Given the description of an element on the screen output the (x, y) to click on. 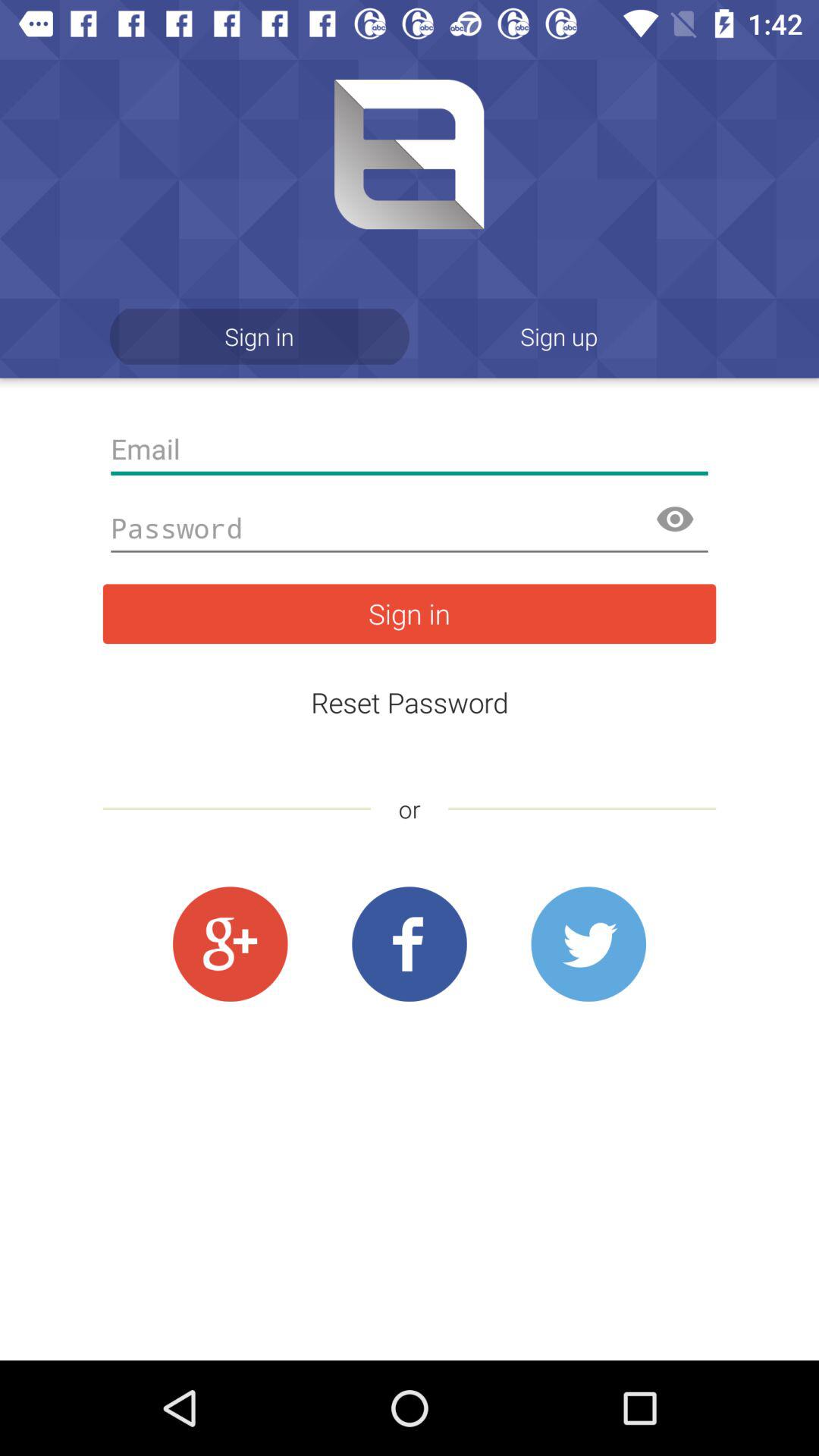
click on sign in (409, 613)
click on the button next to sign in (559, 336)
click on reset password below sign in button (409, 702)
click on facebook icon at bottom of the page (409, 944)
click on icon g at bottom left corner of the page (230, 944)
click on twitter icon at bottom right corner of the page (588, 944)
